Given the description of an element on the screen output the (x, y) to click on. 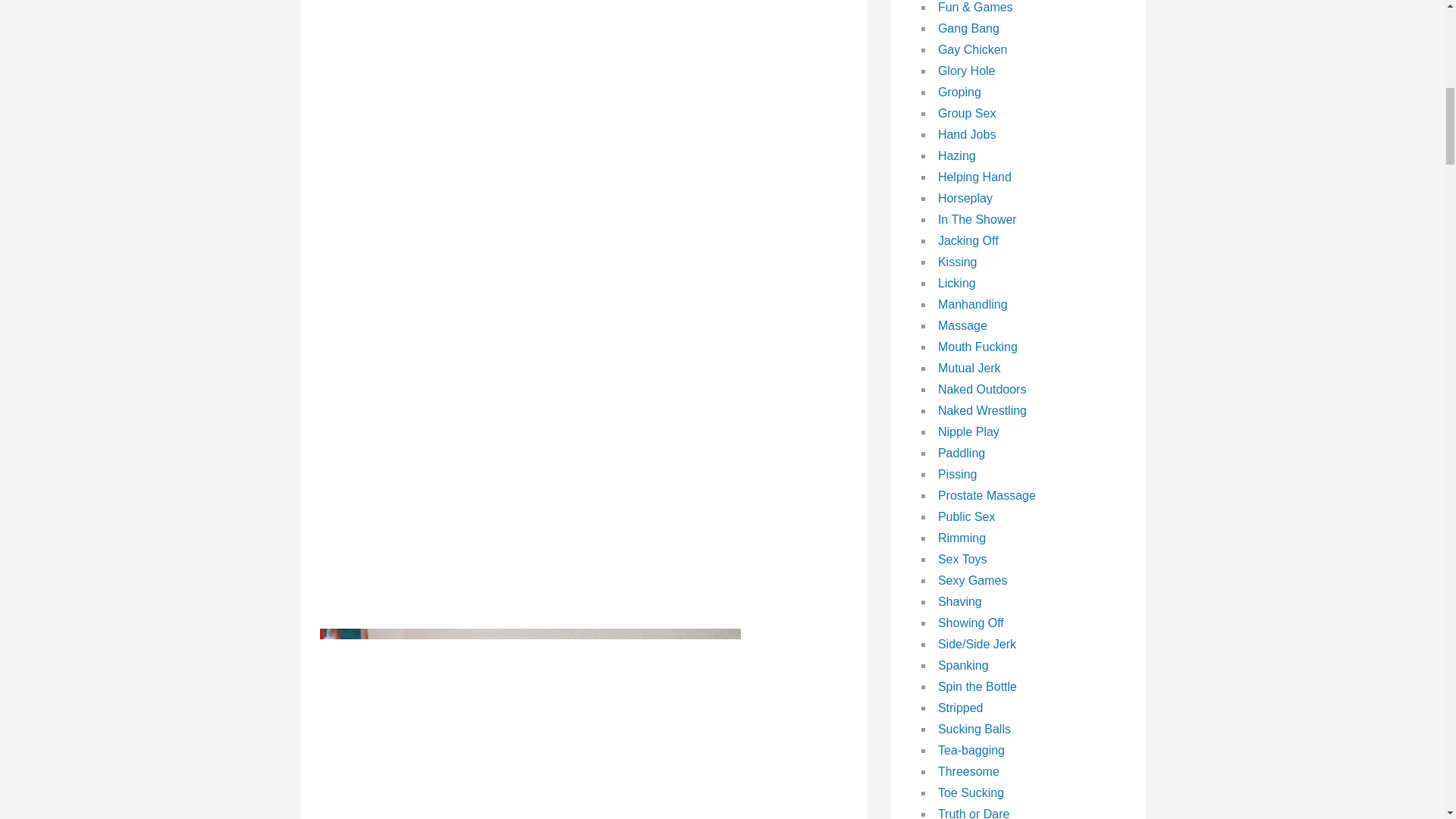
FraternityX: Party Foul (530, 723)
